Given the description of an element on the screen output the (x, y) to click on. 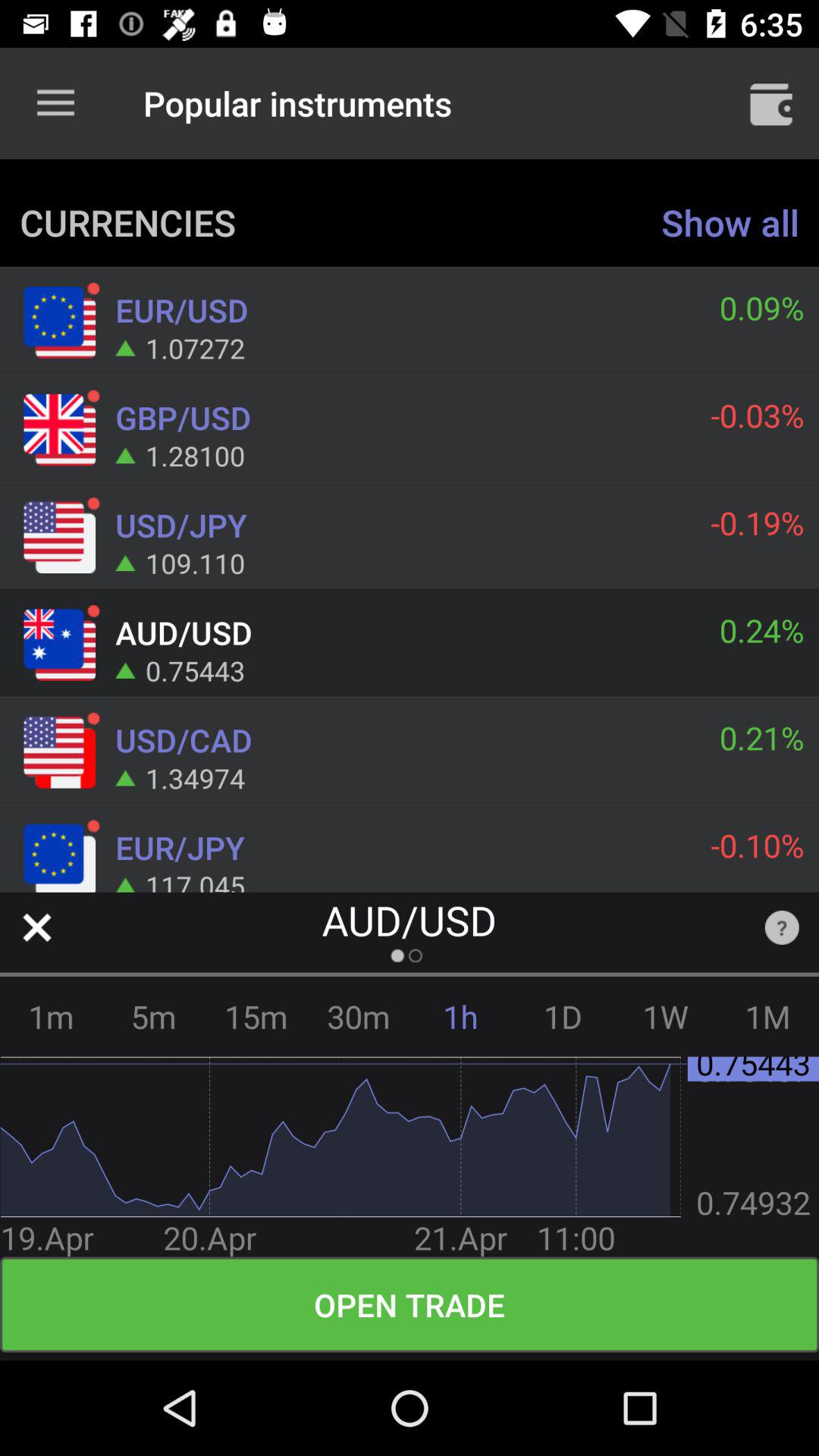
press the icon next to 1h (562, 1016)
